Given the description of an element on the screen output the (x, y) to click on. 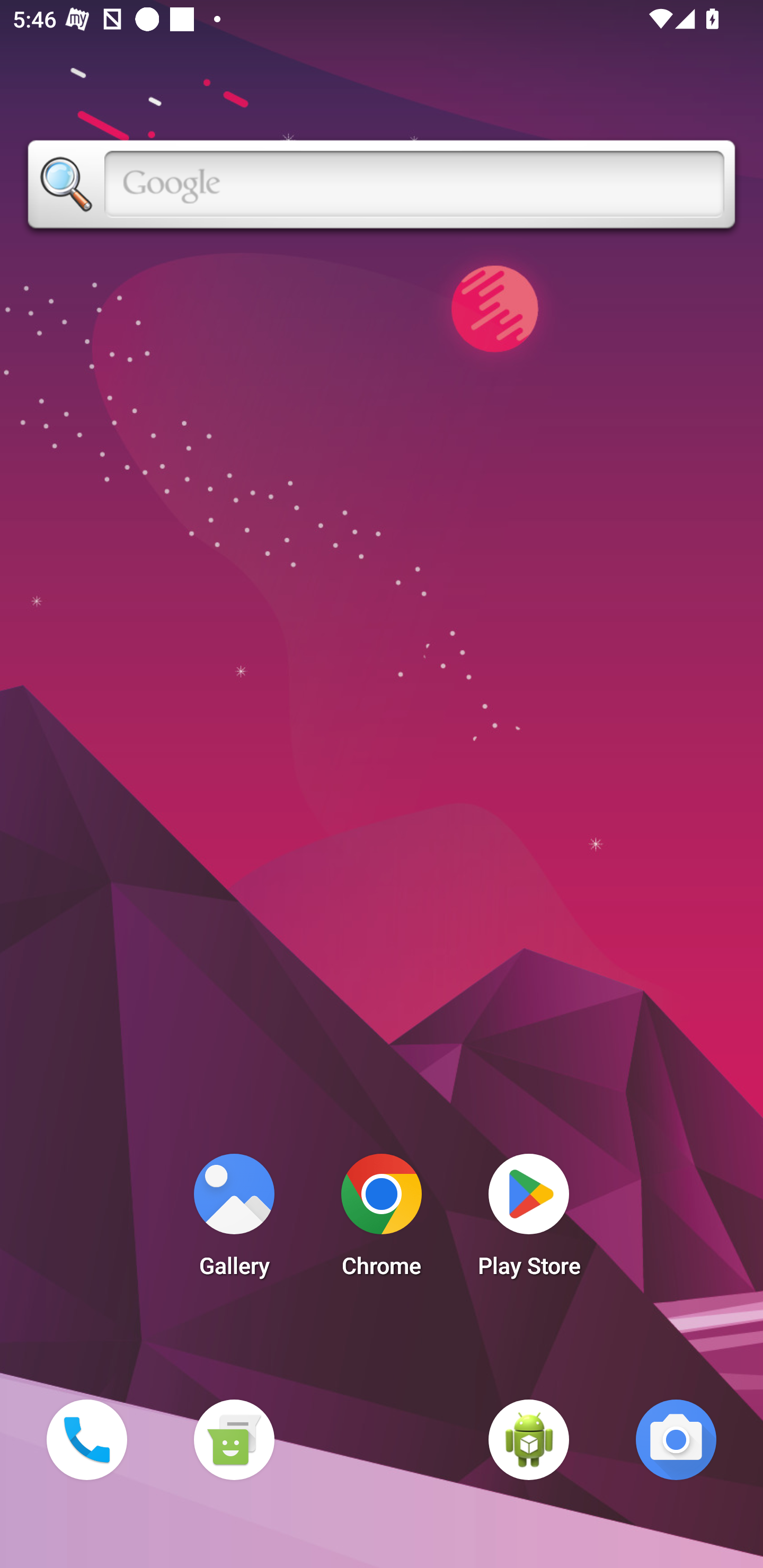
Gallery (233, 1220)
Chrome (381, 1220)
Play Store (528, 1220)
Phone (86, 1439)
Messaging (233, 1439)
WebView Browser Tester (528, 1439)
Camera (676, 1439)
